Given the description of an element on the screen output the (x, y) to click on. 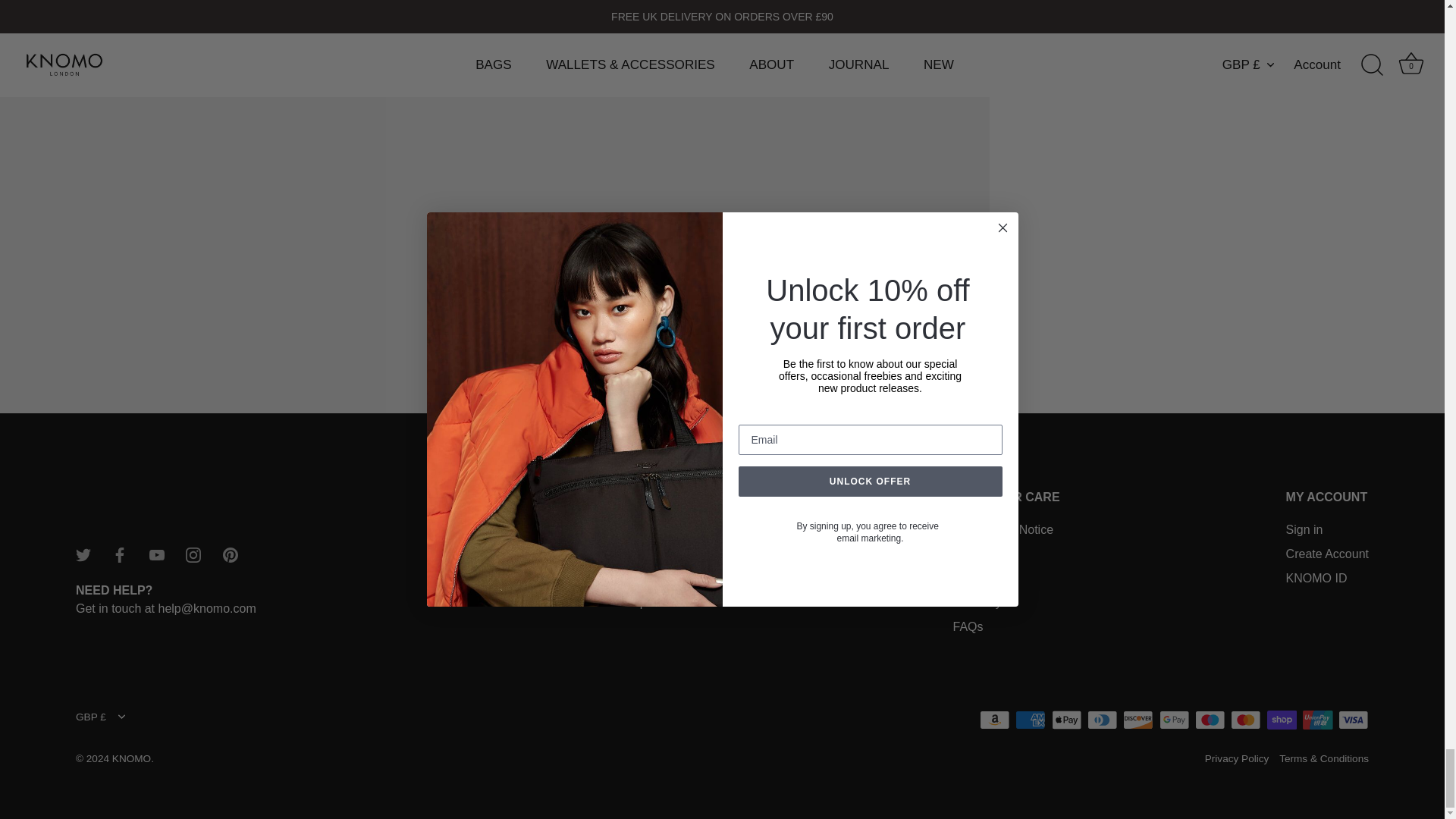
Discover (1137, 719)
Youtube (156, 554)
Instagram (193, 554)
American Express (1029, 719)
Diners Club (1101, 719)
Twitter (82, 554)
Pinterest (230, 554)
Google Pay (1173, 719)
Maestro (1209, 719)
Apple Pay (1066, 719)
Amazon (994, 719)
